Given the description of an element on the screen output the (x, y) to click on. 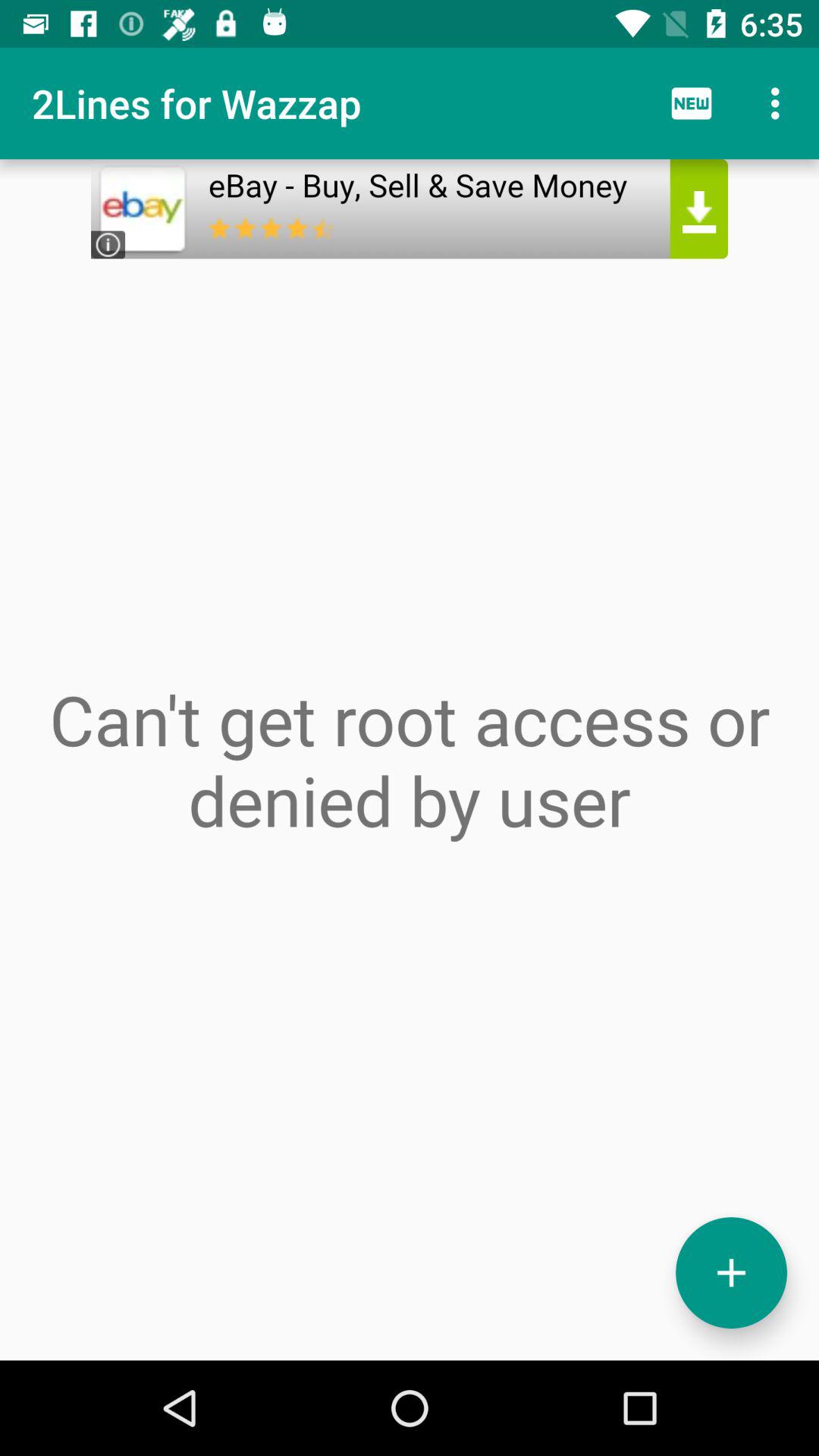
scroll until can t get item (409, 759)
